Given the description of an element on the screen output the (x, y) to click on. 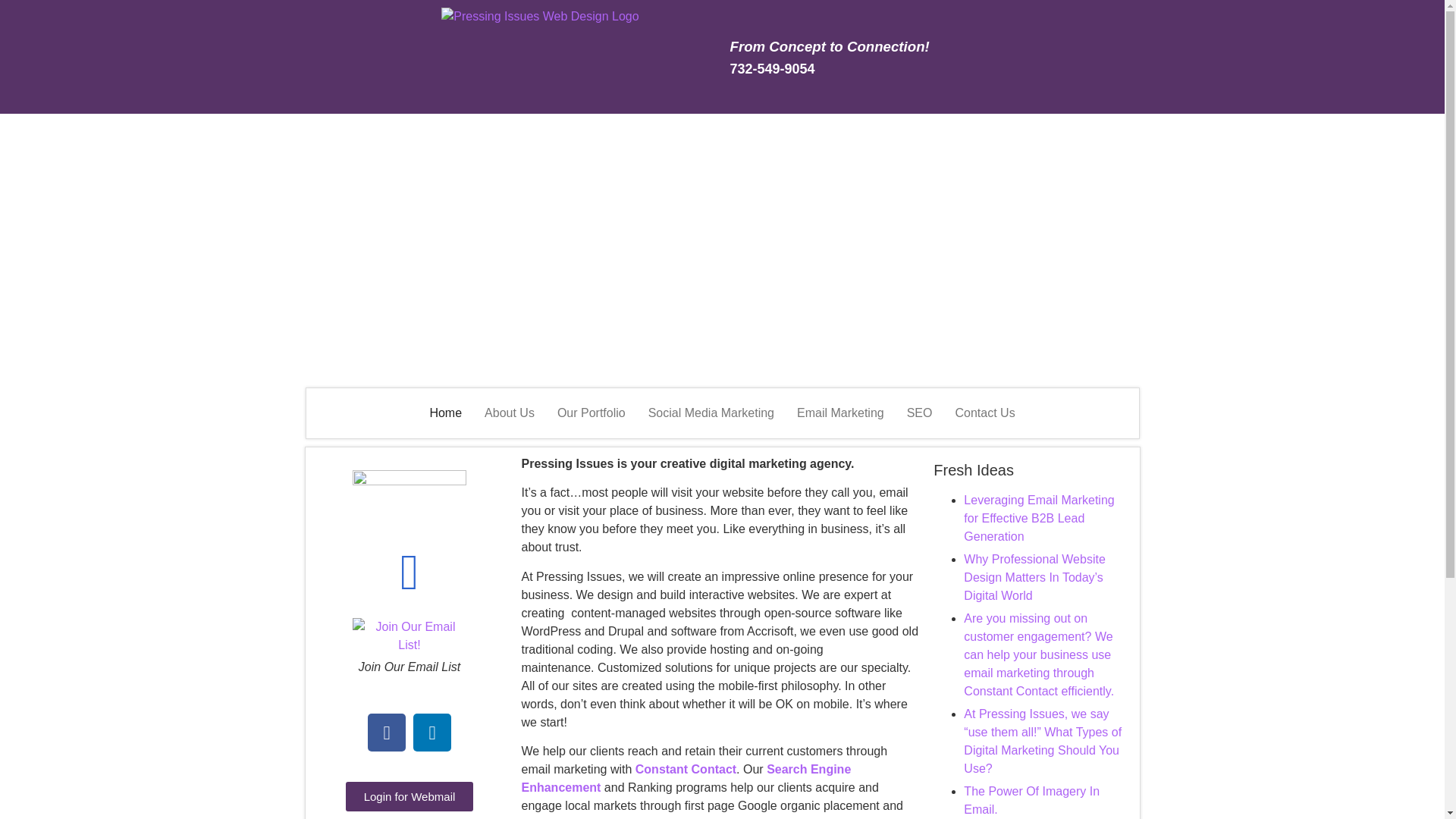
About Us (509, 412)
Contact Us (984, 412)
Our Portfolio (591, 412)
Leveraging Email Marketing for Effective B2B Lead Generation (1038, 517)
Email Marketing (840, 412)
Social Media Marketing (711, 412)
SEO (919, 412)
Login for Webmail (410, 796)
Search Engine Enhancement (686, 777)
